Given the description of an element on the screen output the (x, y) to click on. 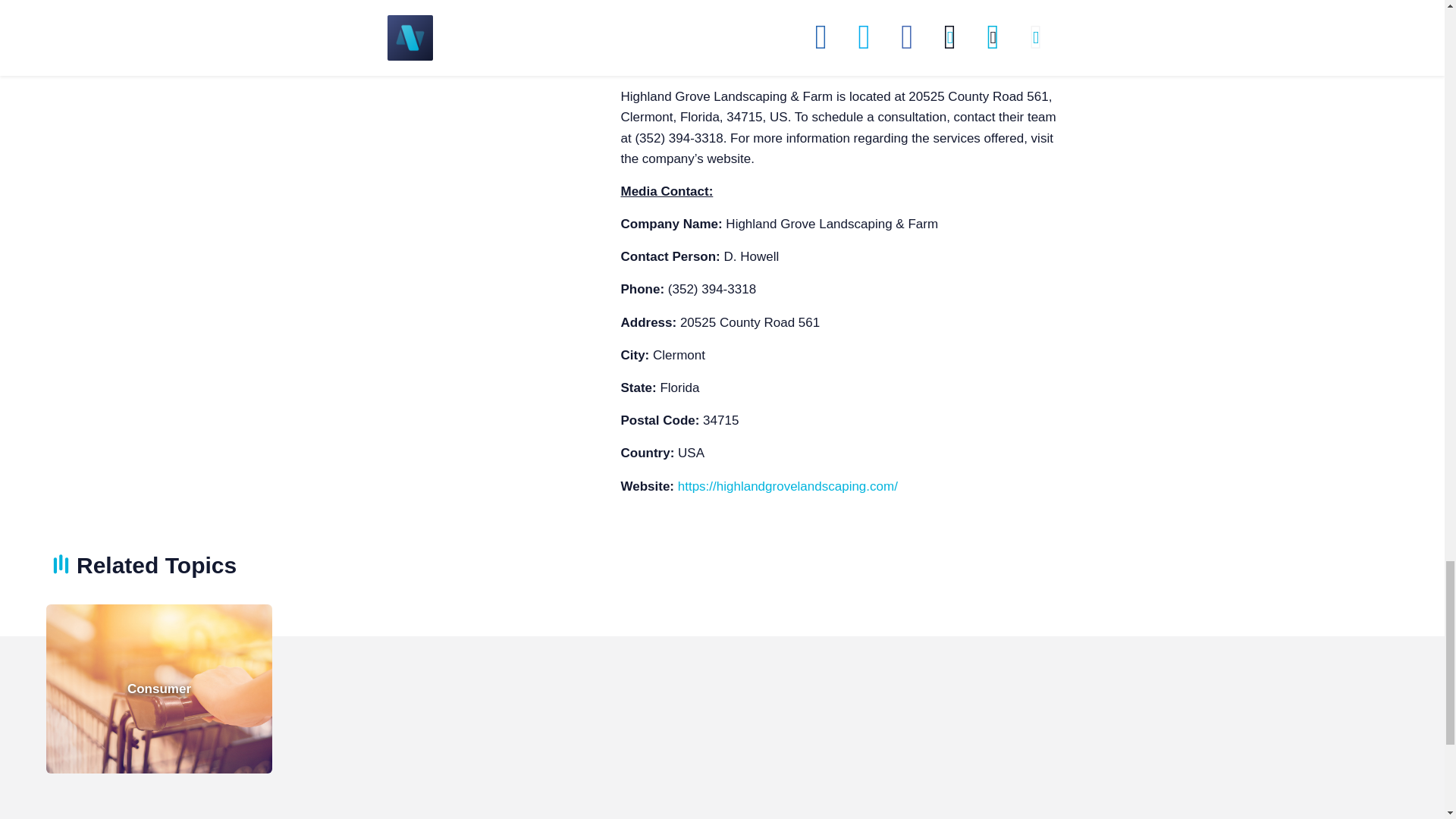
Consumer (159, 688)
landscapers in Clermont (958, 22)
